Given the description of an element on the screen output the (x, y) to click on. 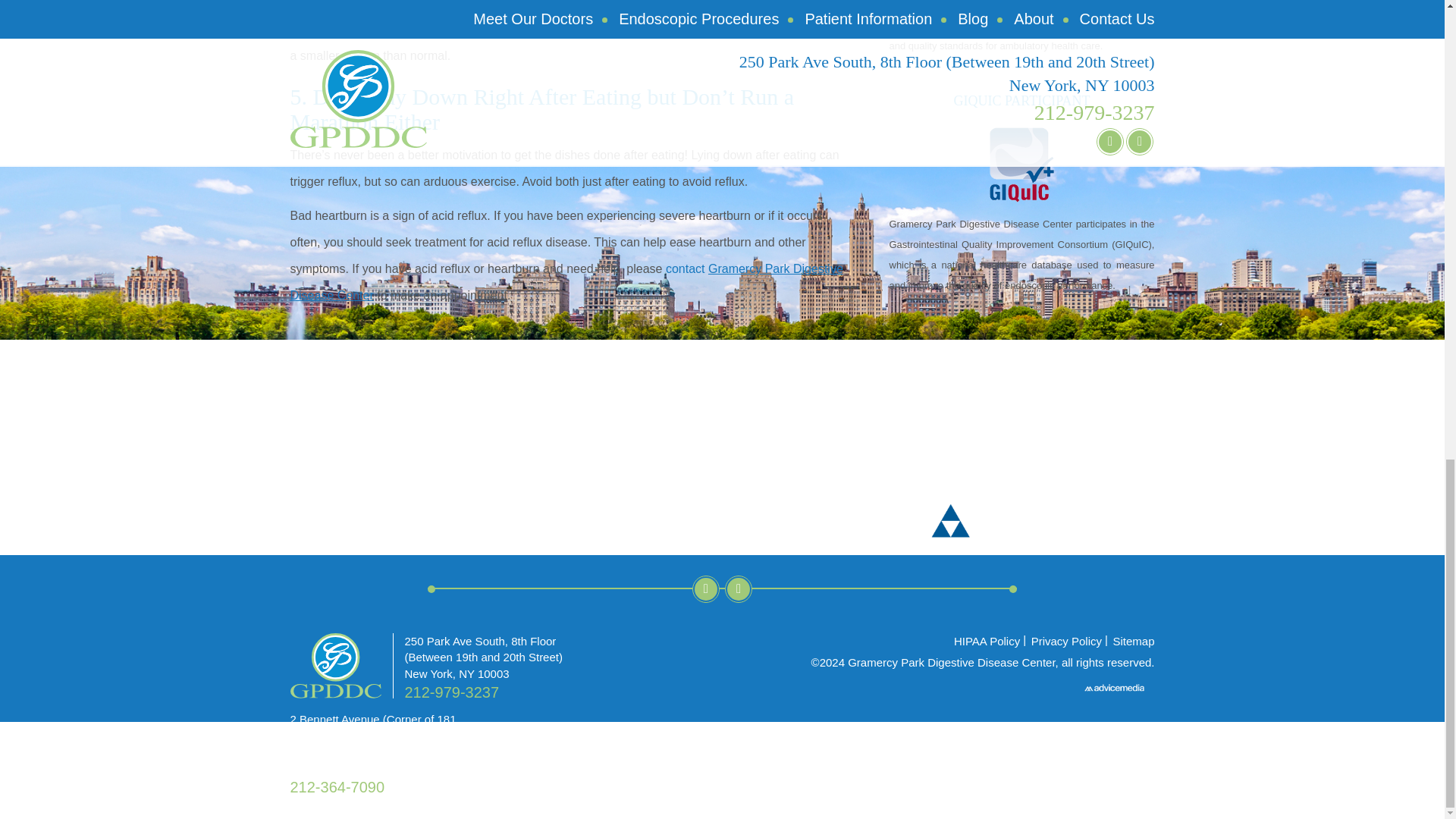
Gramercy Park Digestive Disease Center (566, 282)
contact (684, 268)
